Given the description of an element on the screen output the (x, y) to click on. 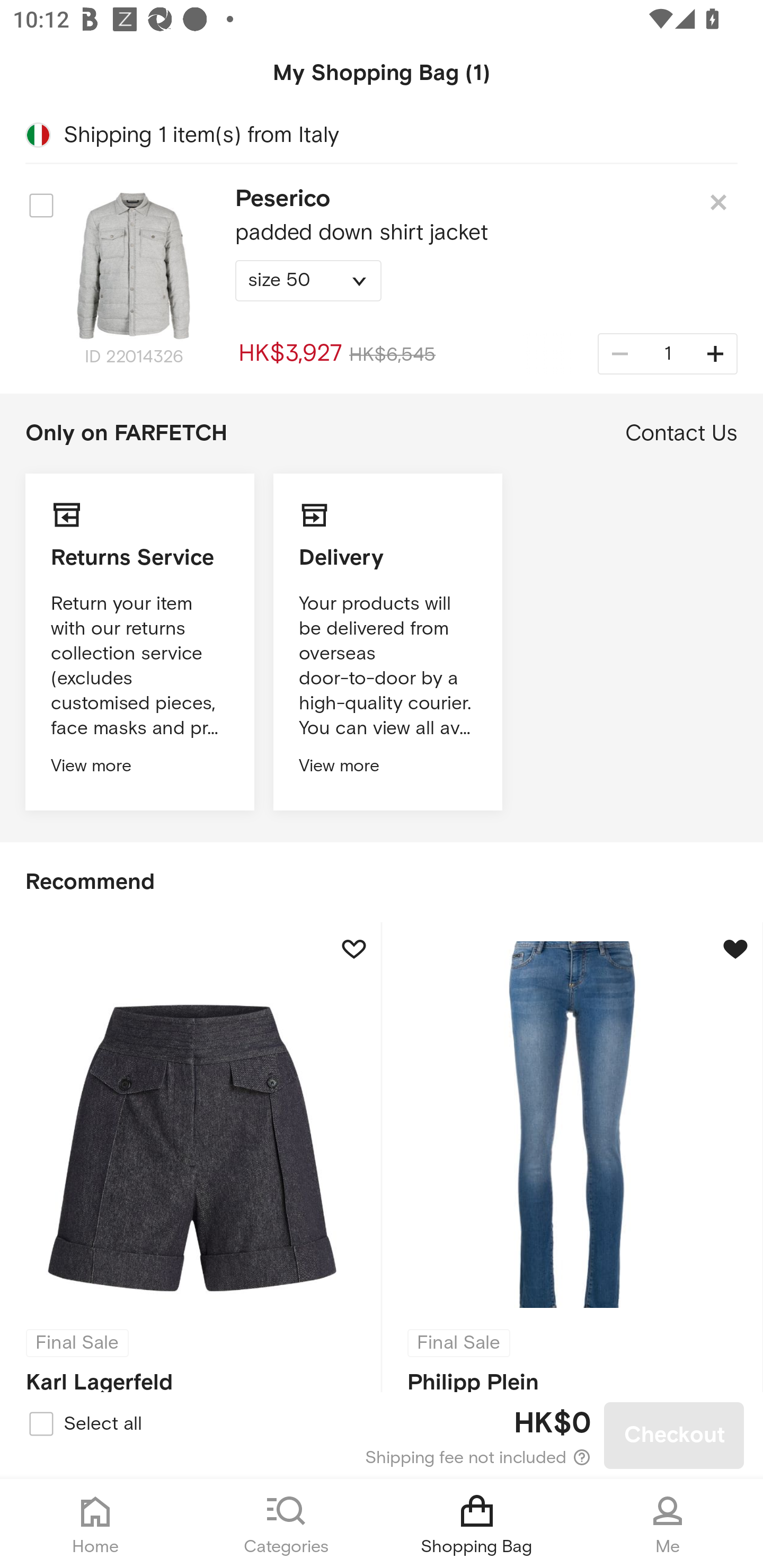
size 50 (308, 280)
Contact Us (680, 433)
HK$0 Shipping fee not included (382, 1435)
Checkout (673, 1435)
Home (95, 1523)
Categories (285, 1523)
Me (667, 1523)
